Given the description of an element on the screen output the (x, y) to click on. 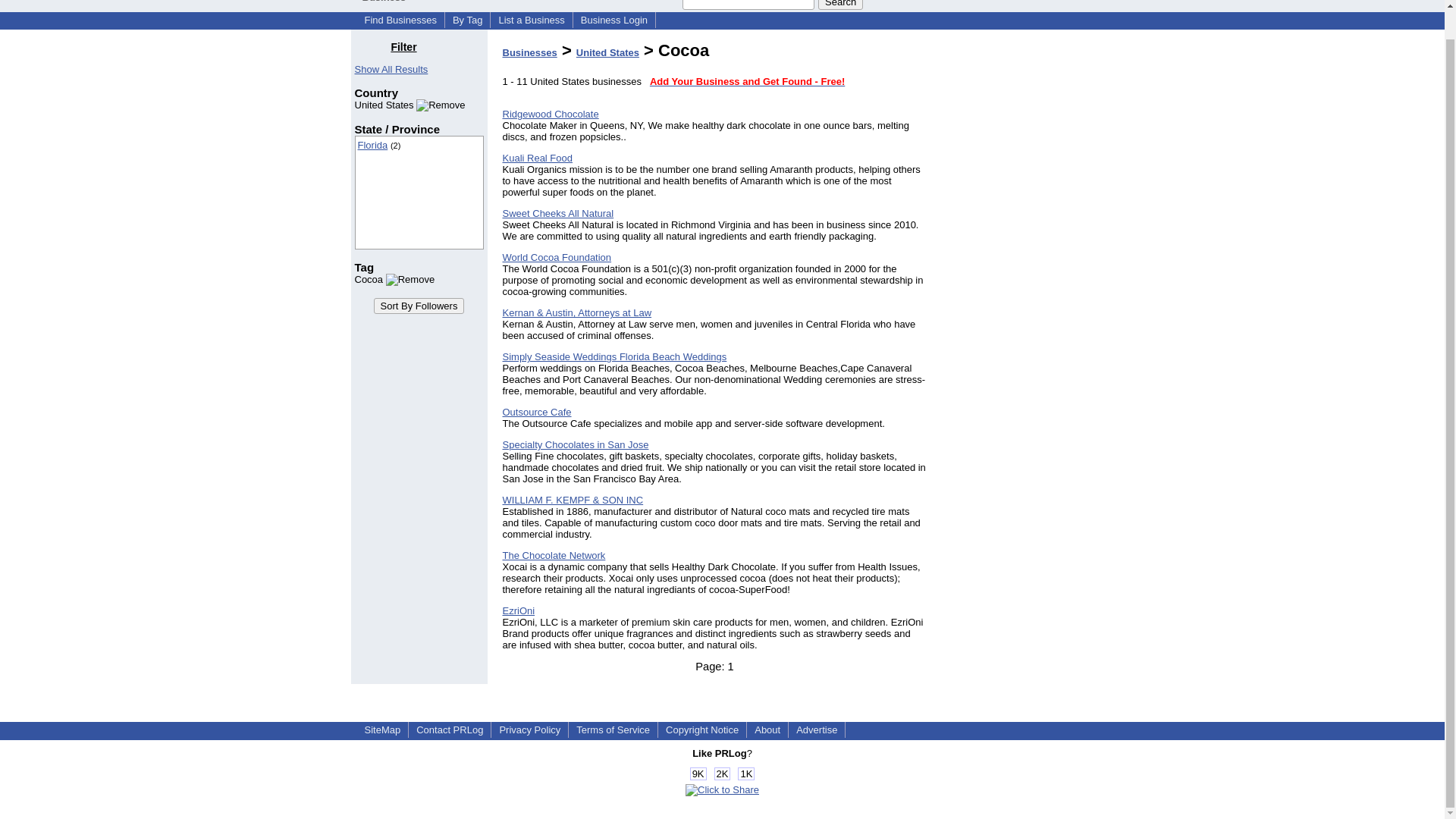
By Tag (467, 19)
Kuali Real Food (537, 157)
List a Business (531, 19)
Share this page! (721, 789)
Advertise (816, 729)
Find Businesses (400, 19)
Businesses (529, 52)
Specialty Chocolates in San Jose (574, 444)
Terms of Service (613, 729)
Add Your Business and Get Found - Free! (746, 81)
Click to remove this filter (410, 104)
Simply Seaside Weddings Florida Beach Weddings (614, 356)
Florida (373, 144)
The Chocolate Network (553, 555)
Click on an option to filter or browse by that option (419, 192)
